Given the description of an element on the screen output the (x, y) to click on. 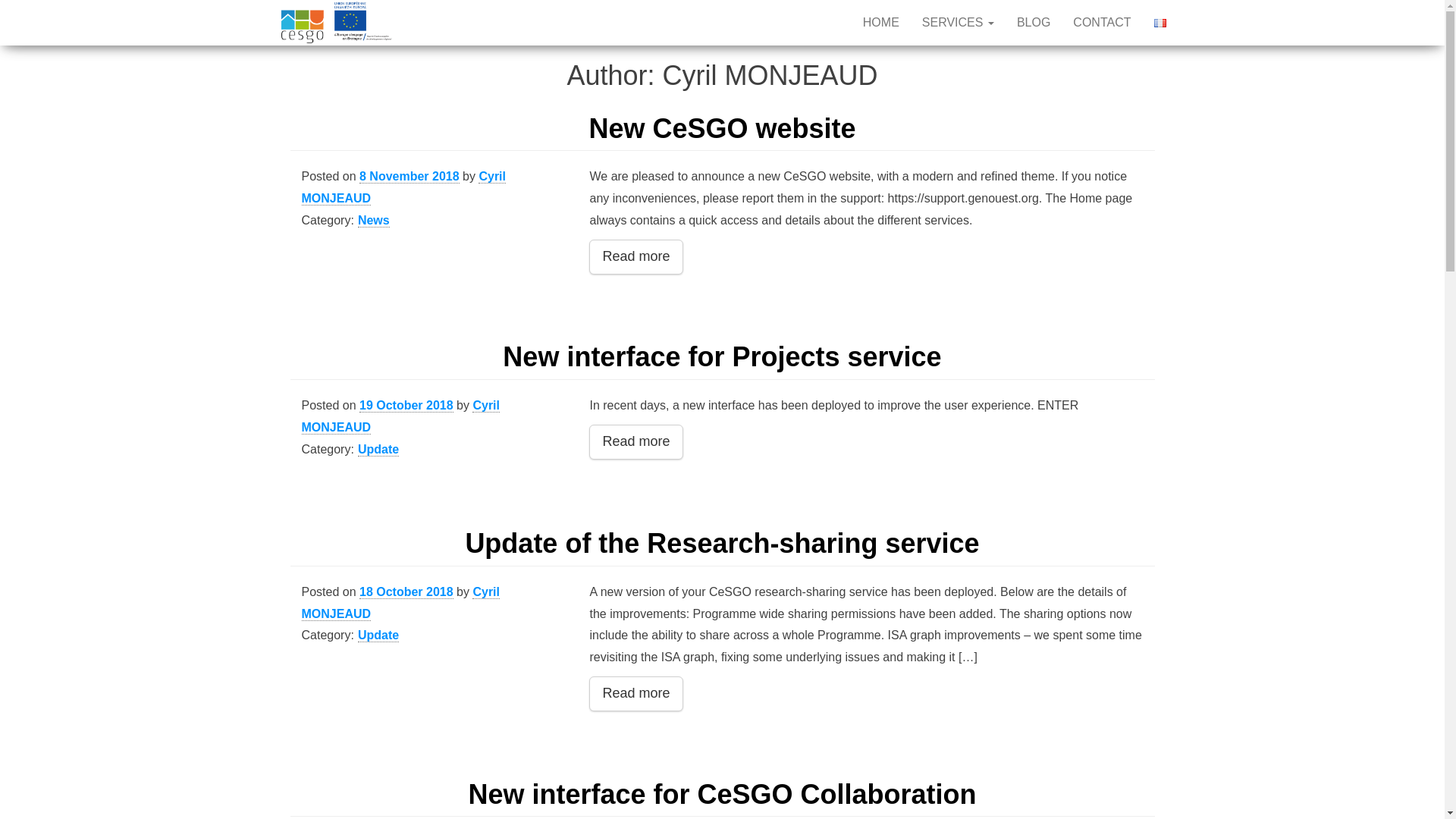
Read more (635, 256)
Read more (635, 442)
New CeSGO website (722, 128)
Blog (1033, 22)
Update of the Research-sharing service (721, 542)
Contact (1101, 22)
BLOG (1033, 22)
New interface for CeSGO Collaboration (721, 793)
New interface for Projects service (721, 356)
Update (378, 635)
Update (378, 449)
Cyril MONJEAUD (400, 416)
Cyril MONJEAUD (400, 602)
CONTACT (1101, 22)
19 October 2018 (405, 405)
